Given the description of an element on the screen output the (x, y) to click on. 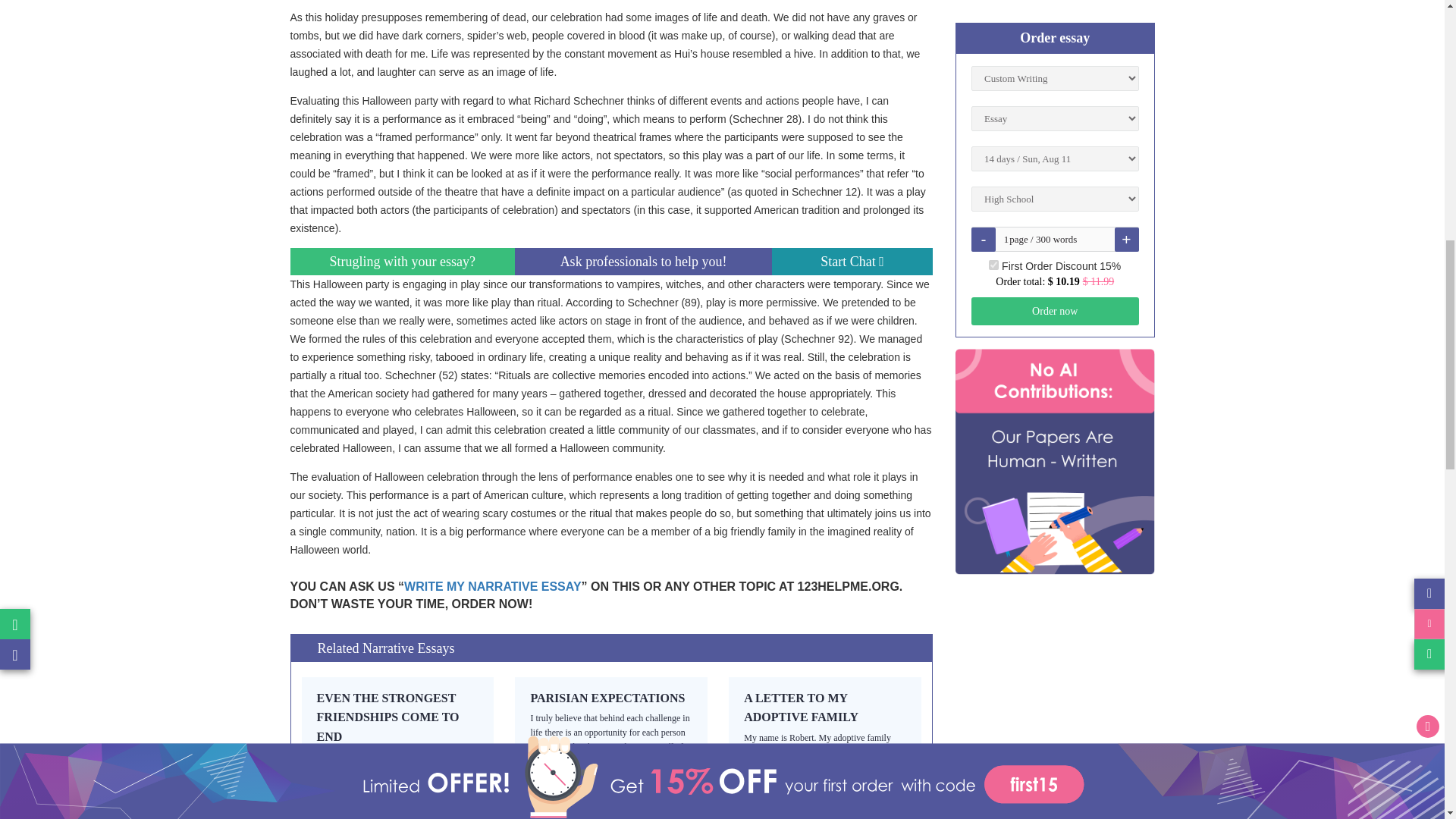
Read more (606, 697)
Read more (388, 716)
Read more (801, 707)
